Given the description of an element on the screen output the (x, y) to click on. 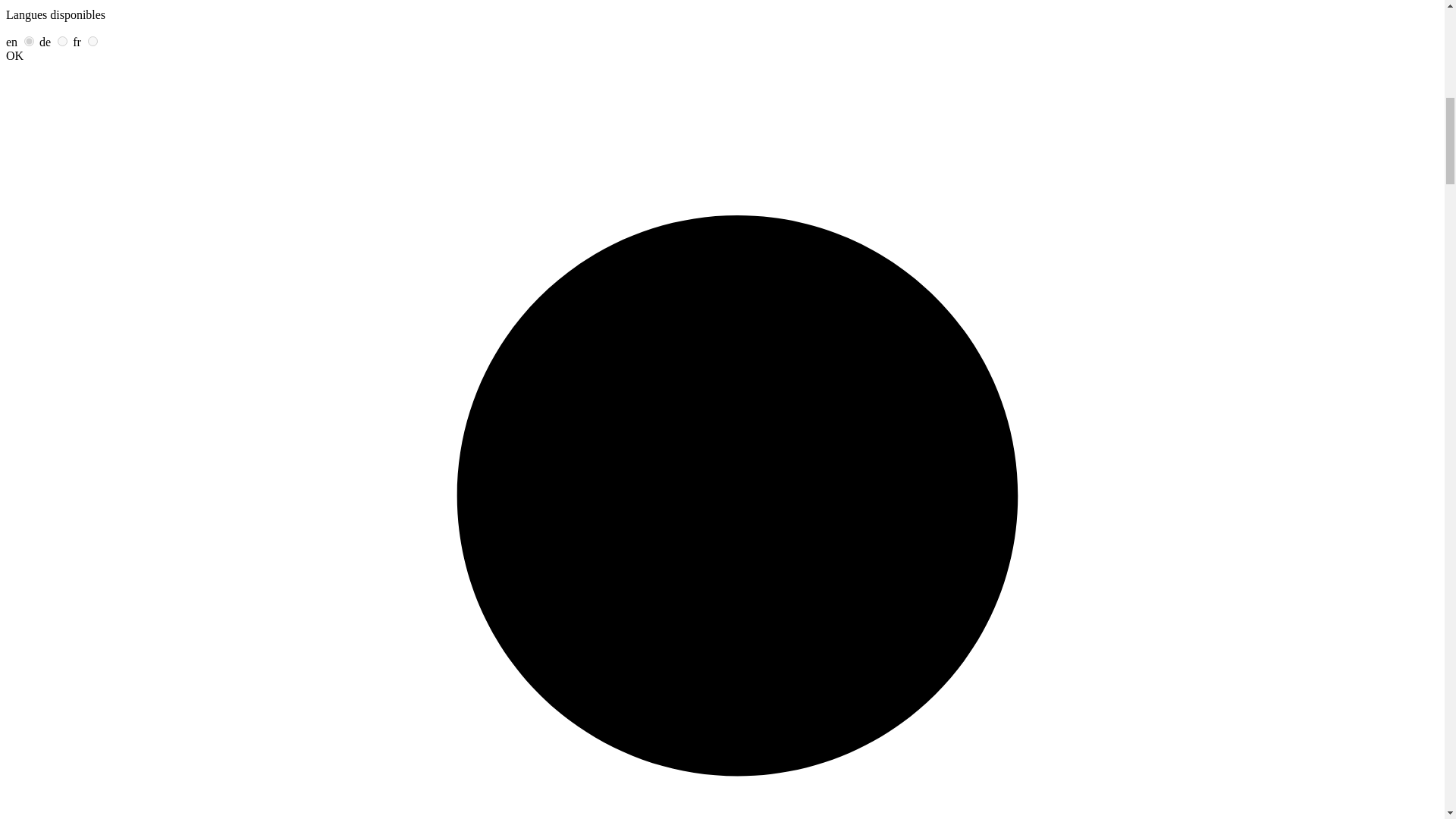
en (28, 40)
de (62, 40)
fr (92, 40)
